Given the description of an element on the screen output the (x, y) to click on. 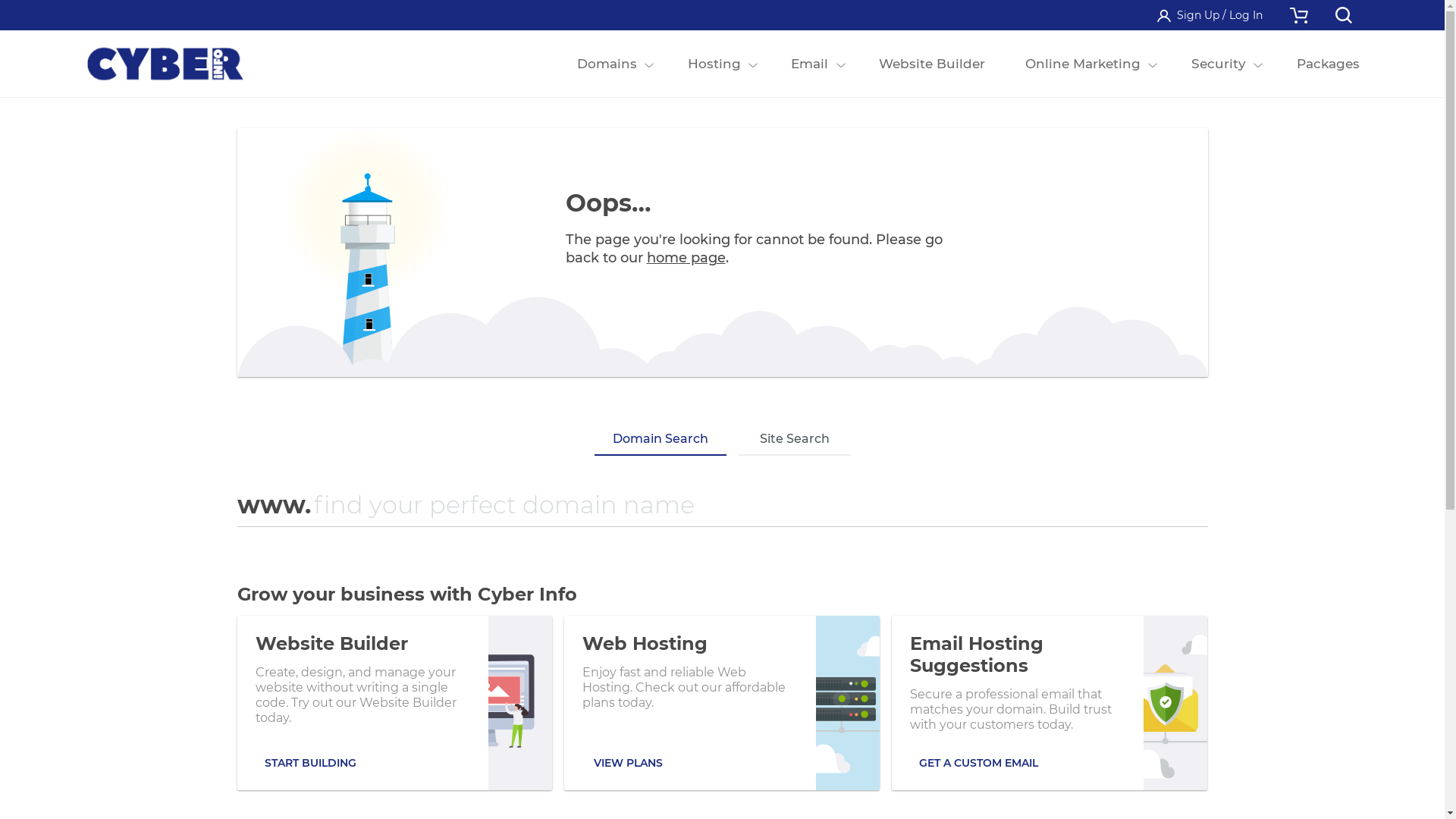
Security Element type: text (1218, 63)
home page Element type: text (685, 257)
Online Marketing Element type: text (1083, 63)
Domains Element type: text (607, 63)
Hosting Element type: text (713, 63)
Email Element type: text (809, 63)
START BUILDING Element type: text (309, 762)
GET A CUSTOM EMAIL Element type: text (978, 762)
Packages Element type: text (1327, 63)
Website Builder Element type: text (931, 63)
VIEW PLANS Element type: text (628, 762)
